Given the description of an element on the screen output the (x, y) to click on. 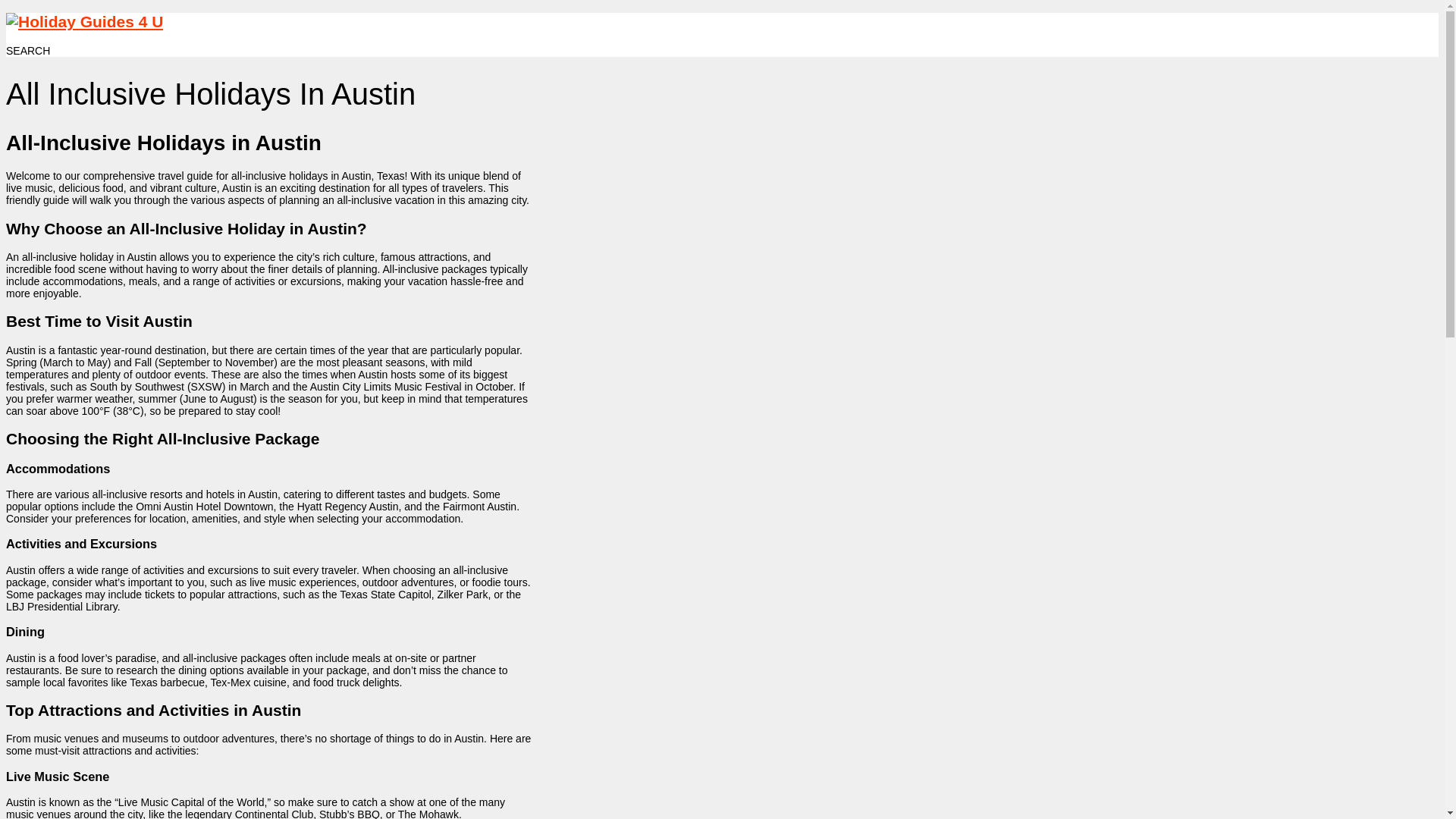
Holiday Guides 4 U (84, 21)
SEARCH (27, 50)
